Given the description of an element on the screen output the (x, y) to click on. 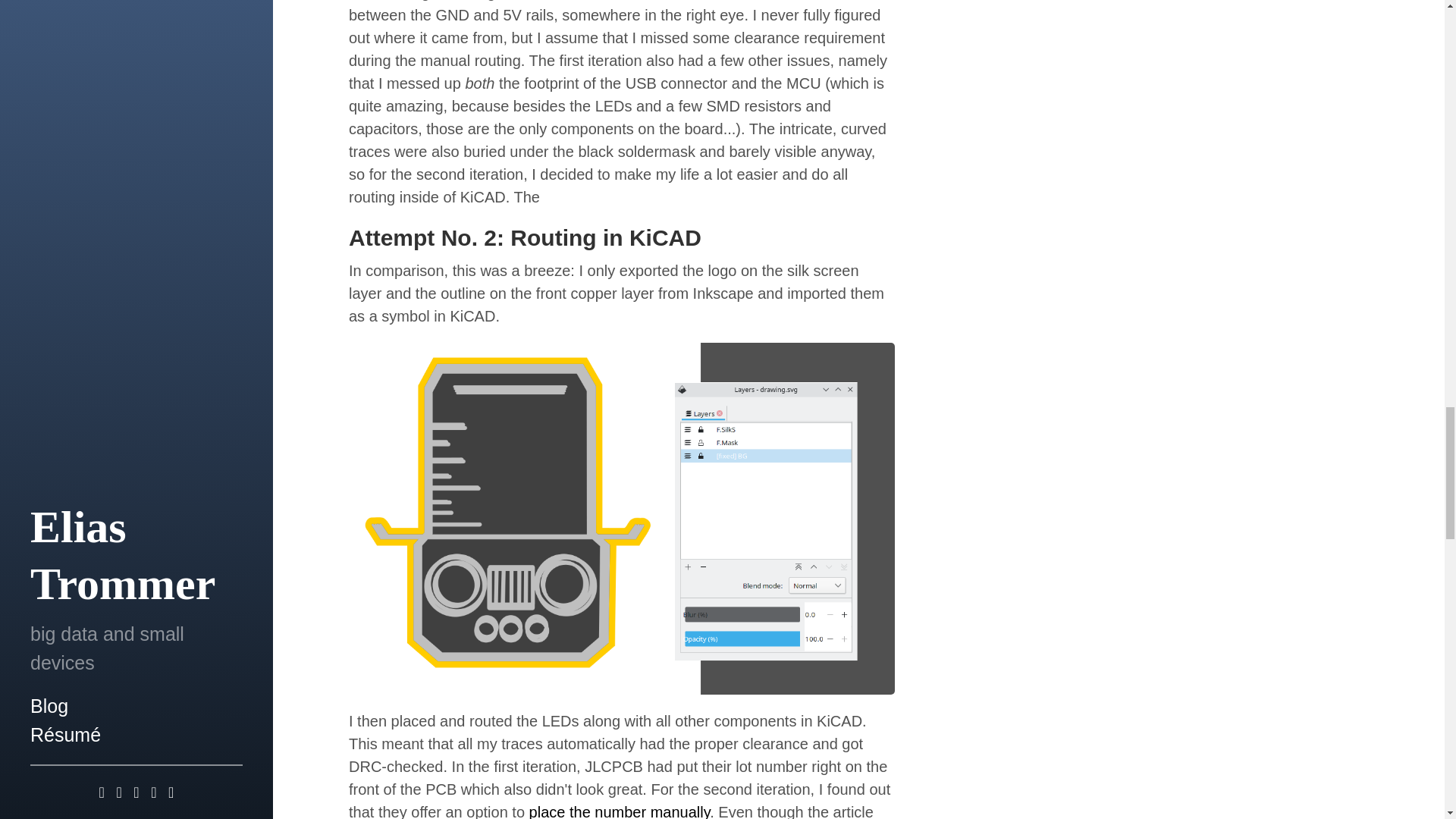
place the number manually (619, 811)
